Given the description of an element on the screen output the (x, y) to click on. 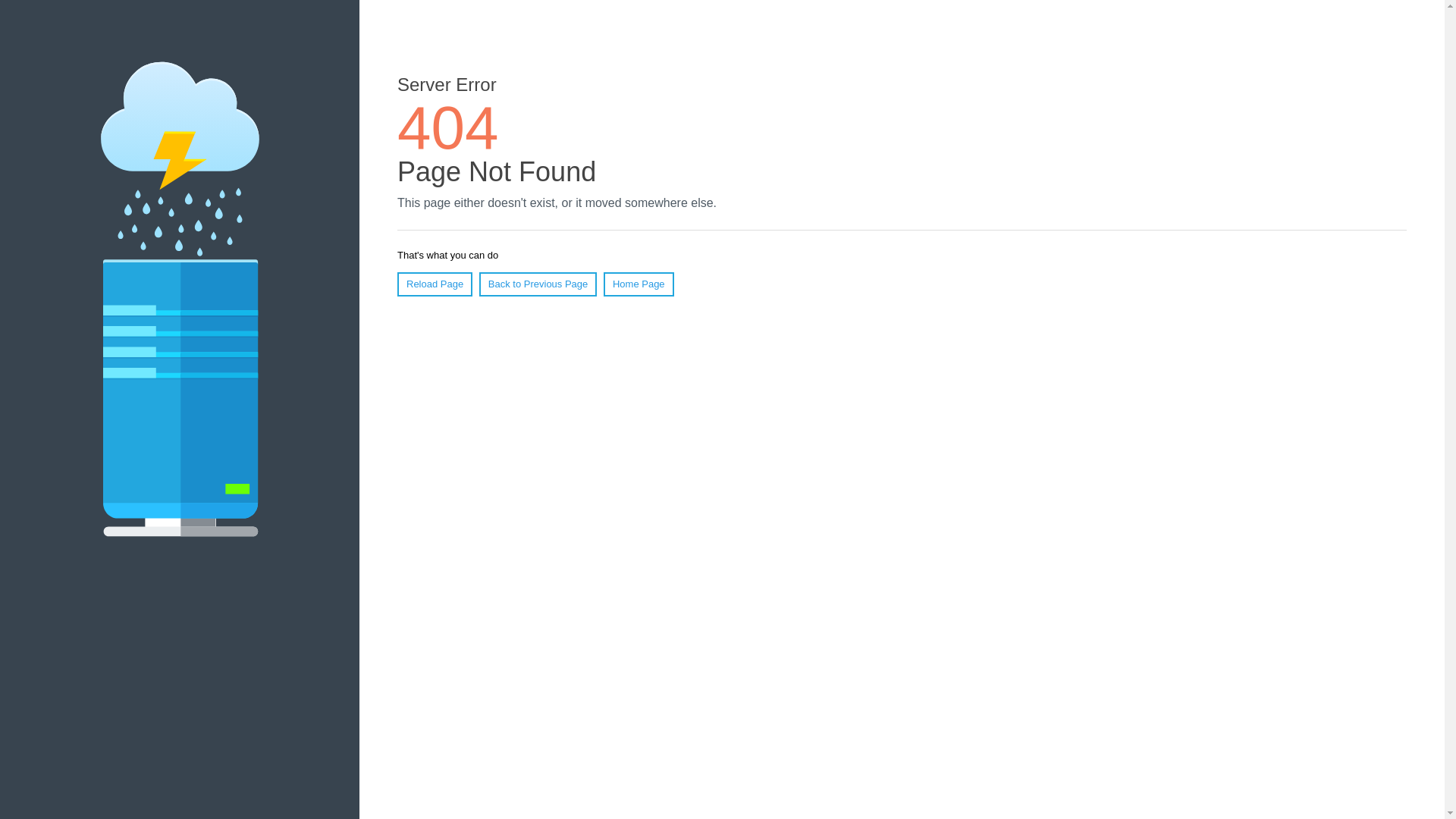
Back to Previous Page Element type: text (538, 284)
Reload Page Element type: text (434, 284)
Home Page Element type: text (638, 284)
